Given the description of an element on the screen output the (x, y) to click on. 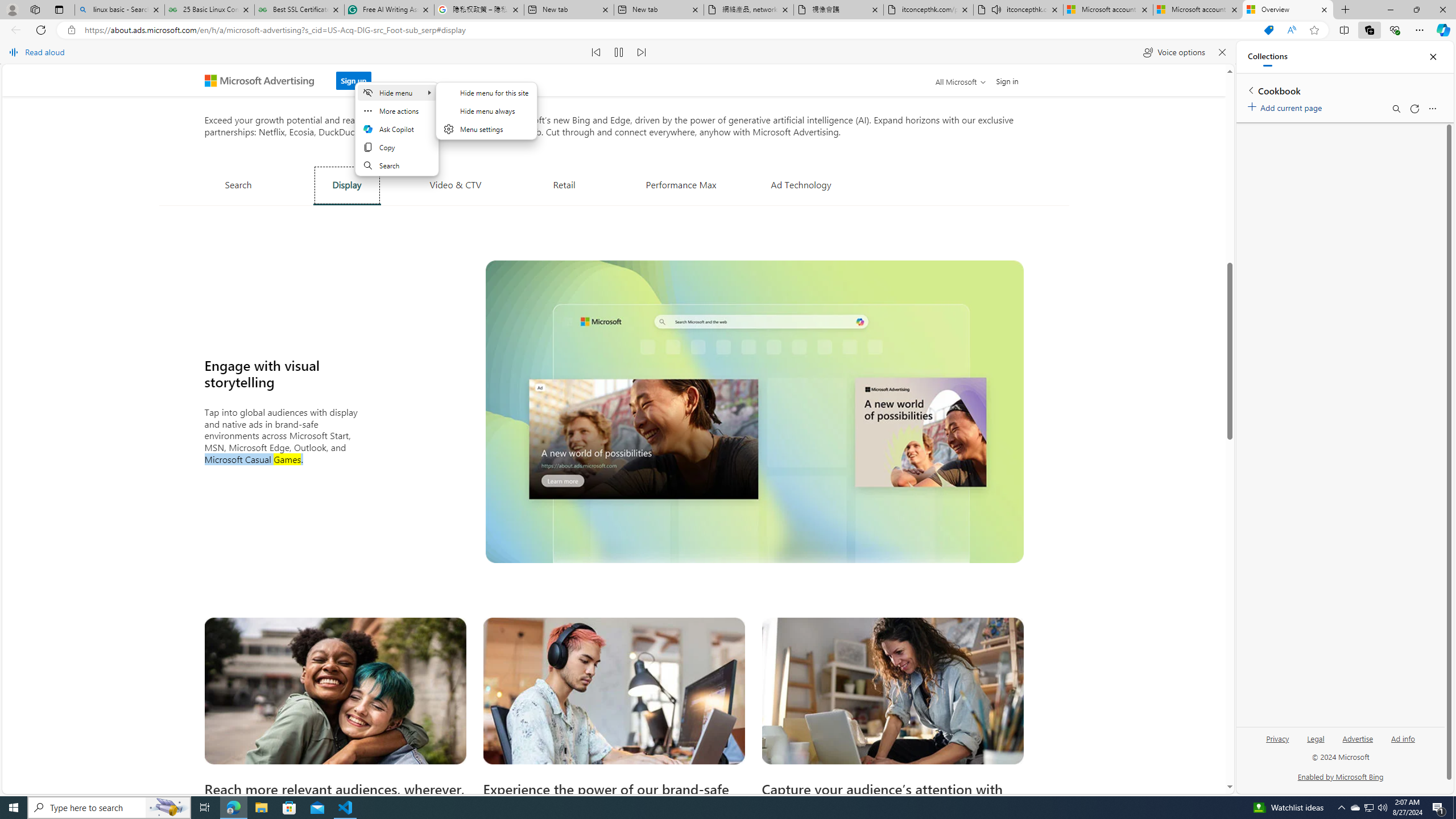
Performance Max (681, 183)
Ask Copilot (396, 129)
Sign up (353, 76)
More options menu (1432, 108)
itconcepthk.com/projector_solutions.mp4 (928, 9)
